Given the description of an element on the screen output the (x, y) to click on. 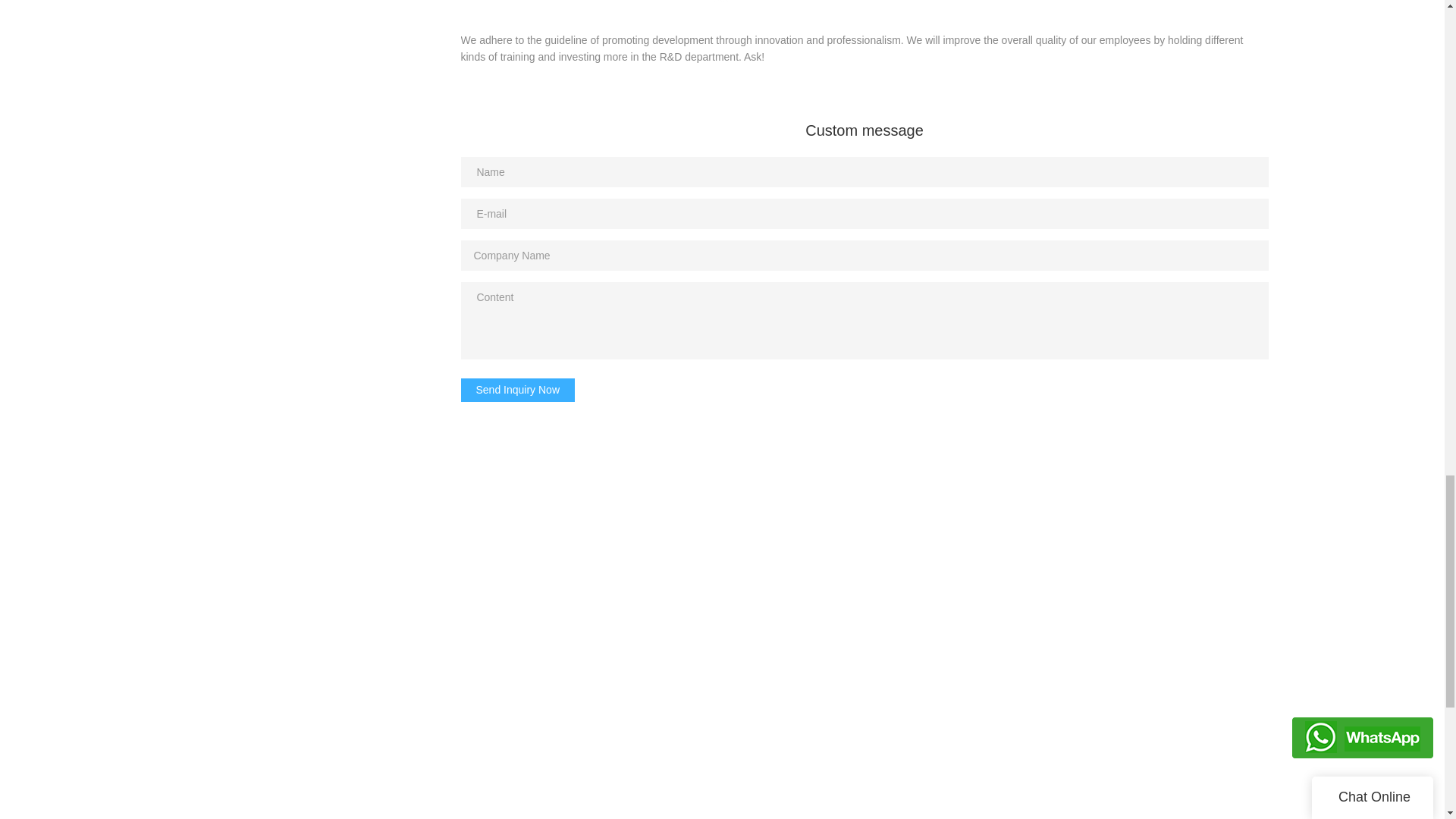
Send Inquiry Now (518, 389)
